Given the description of an element on the screen output the (x, y) to click on. 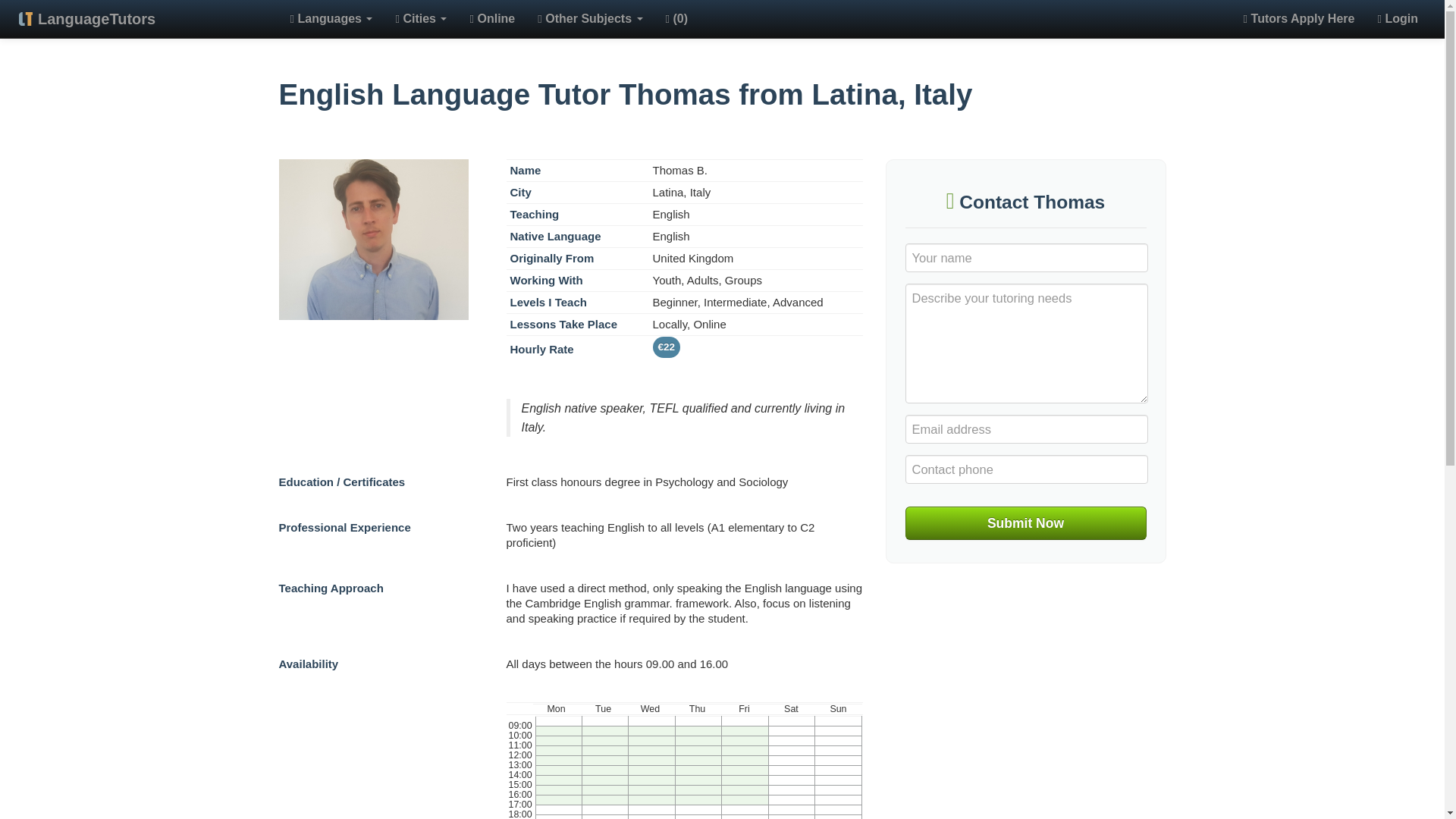
Mon 08:00 - 09:00 (557, 720)
Tutors Apply Here (1299, 19)
LanguageTutors (96, 19)
Sun 09:00 - 10:00 (838, 731)
Green denotes available time slots (684, 760)
Regular rate per hour in EUR (665, 346)
Sun 08:00 - 09:00 (838, 720)
Login (1397, 19)
Mon 10:00 - 11:00 (557, 740)
Thu 09:00 - 10:00 (697, 731)
